Given the description of an element on the screen output the (x, y) to click on. 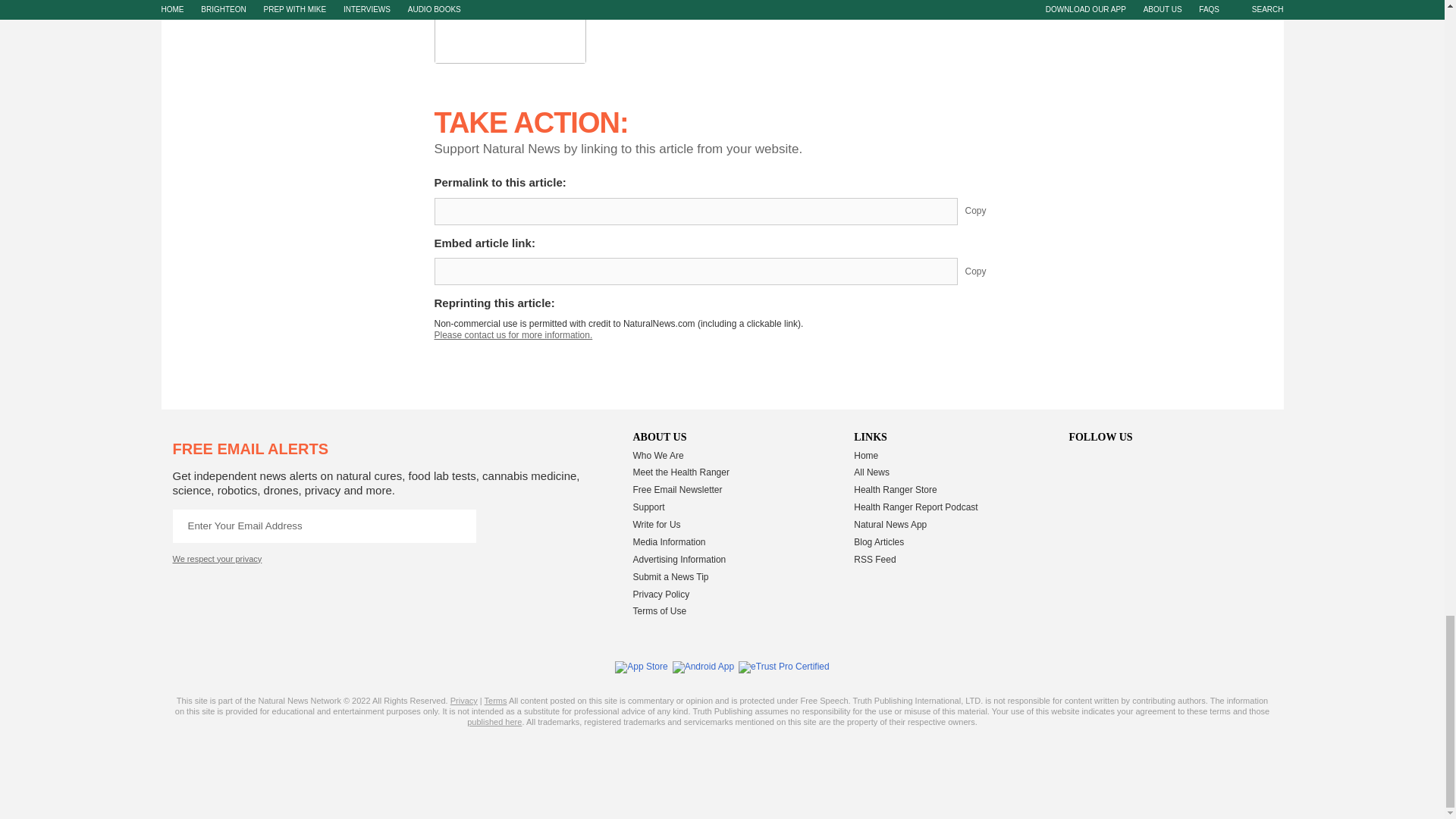
Copy Embed Link (986, 271)
Copy Permalink (986, 211)
Continue (459, 525)
eTrust Pro Certified (783, 666)
